Given the description of an element on the screen output the (x, y) to click on. 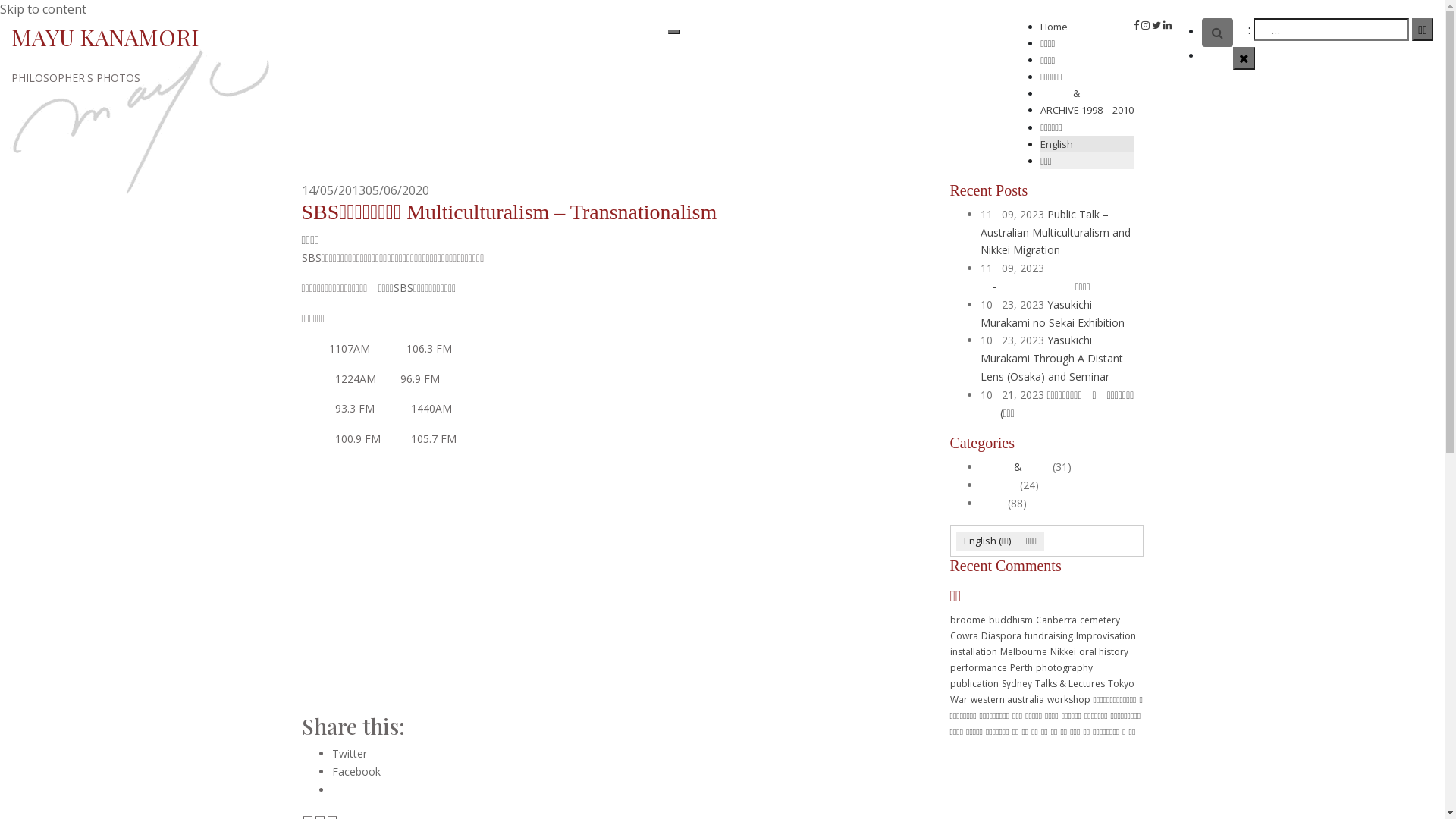
buddhism Element type: text (1010, 619)
fundraising Element type: text (1047, 635)
Facebook Element type: text (356, 771)
Sydney Element type: text (1016, 683)
Yasukichi Murakami no Sekai Exhibition Element type: text (1051, 313)
Cowra Element type: text (963, 635)
Home Element type: text (1053, 26)
MAYU KANAMORI Element type: text (105, 36)
14/05/201305/06/2020 Element type: text (365, 190)
workshop Element type: text (1067, 699)
English Element type: text (1086, 143)
Search Button Element type: text (1217, 32)
oral history Element type: text (1102, 651)
Twitter Element type: text (349, 753)
installation Element type: text (972, 651)
War Element type: text (957, 699)
performance Element type: text (977, 667)
broome Element type: text (967, 619)
Diaspora Element type: text (1001, 635)
Nikkei Element type: text (1062, 651)
Perth Element type: text (1021, 667)
cemetery Element type: text (1099, 619)
photography Element type: text (1063, 667)
western australia Element type: text (1007, 699)
Melbourne Element type: text (1022, 651)
Tokyo Element type: text (1120, 683)
Skip to content Element type: text (43, 8)
Talks & Lectures Element type: text (1069, 683)
Improvisation Element type: text (1105, 635)
publication Element type: text (973, 683)
Toggle mobile menu Element type: text (674, 31)
Canberra Element type: text (1055, 619)
